Given the description of an element on the screen output the (x, y) to click on. 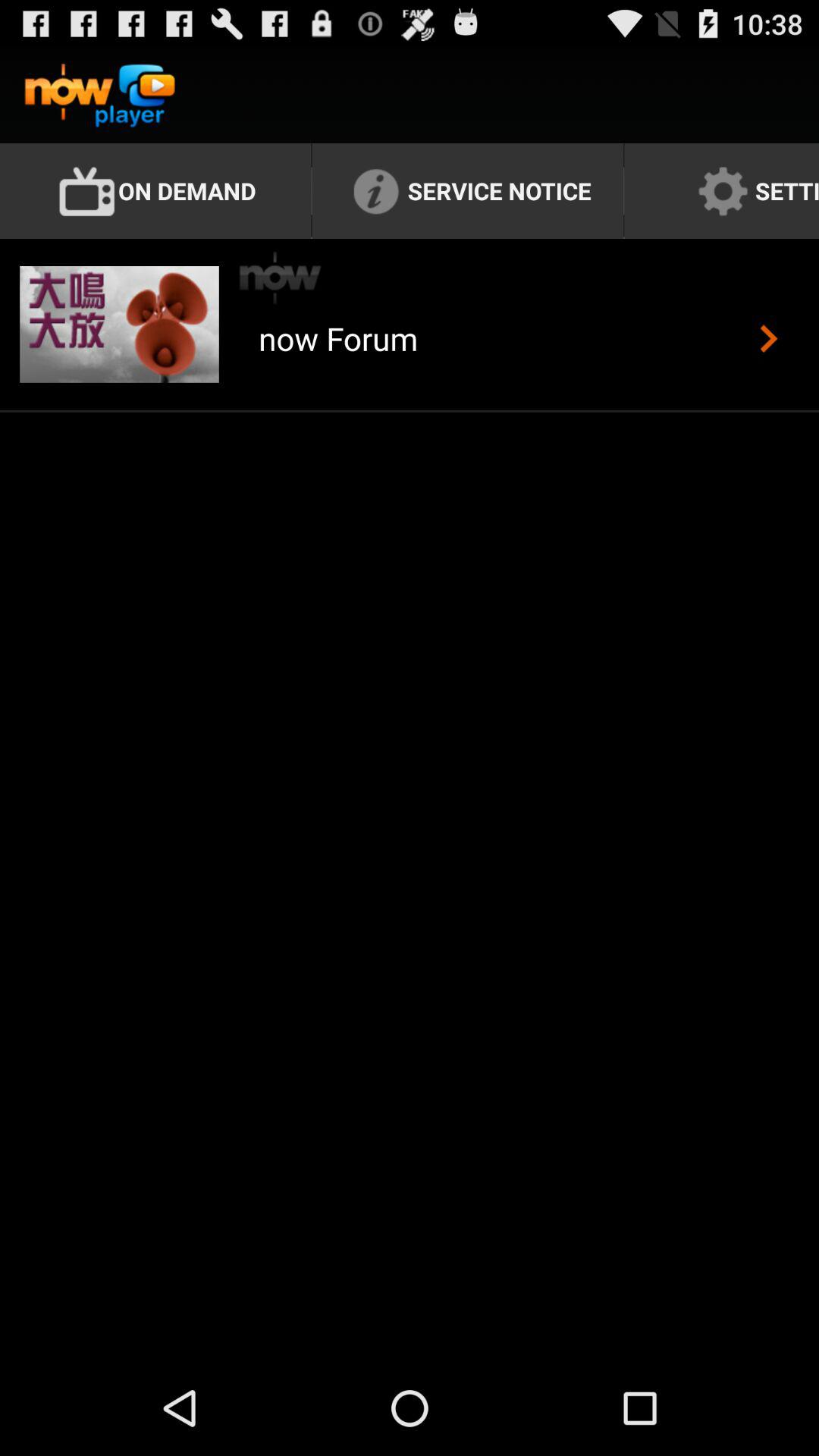
flip until the now forum item (338, 356)
